Given the description of an element on the screen output the (x, y) to click on. 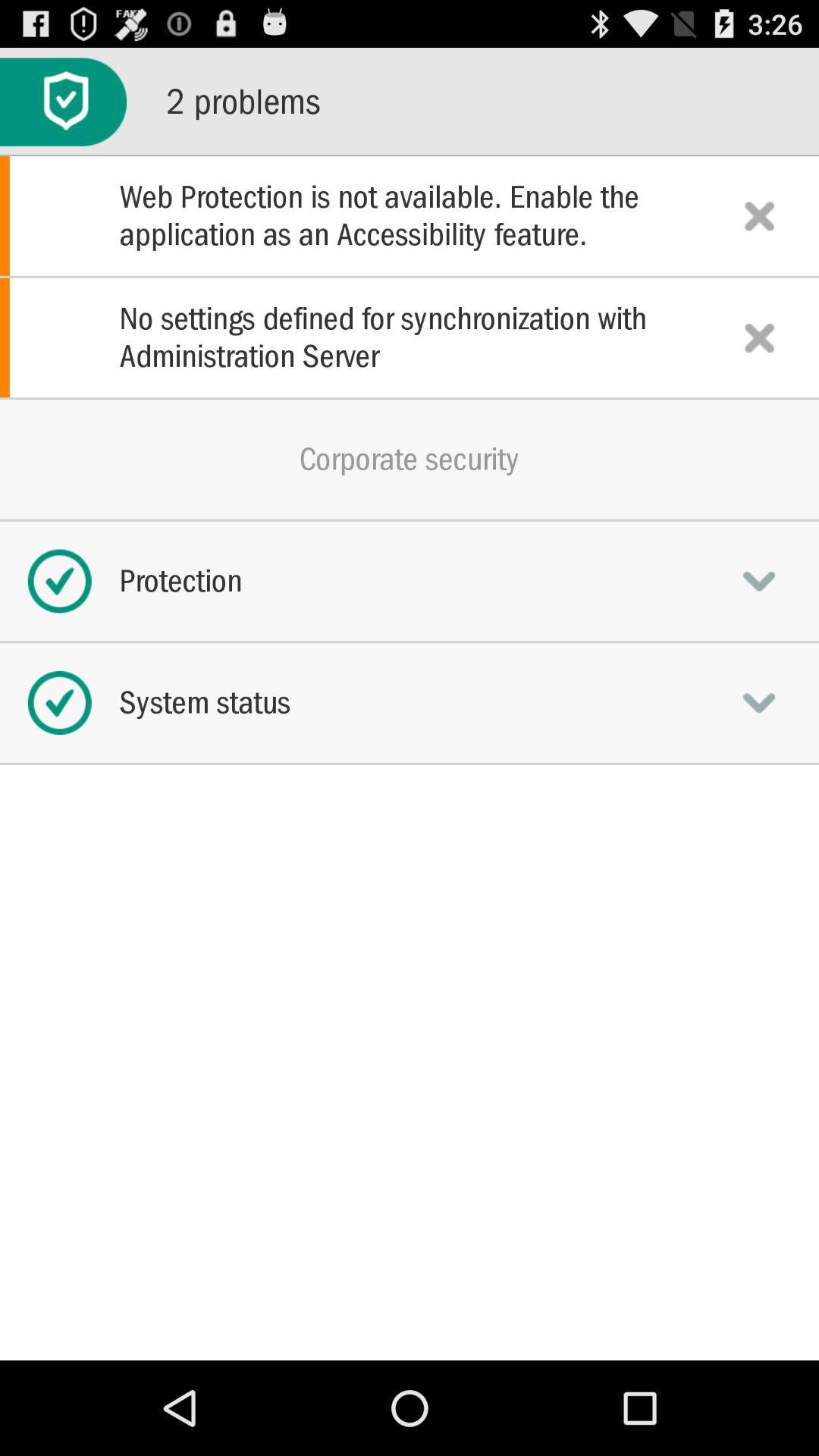
scroll until web protection is icon (409, 215)
